Given the description of an element on the screen output the (x, y) to click on. 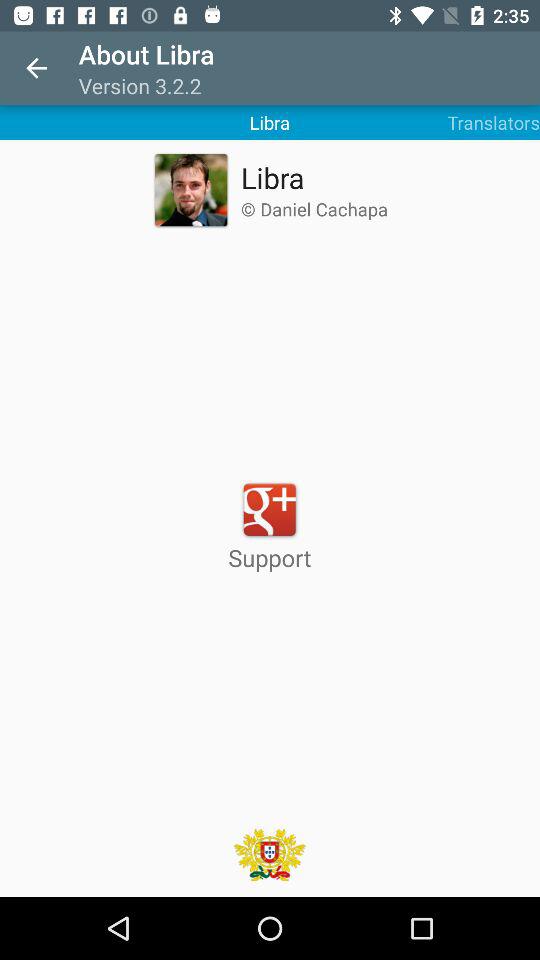
launch the icon below the support icon (269, 854)
